Given the description of an element on the screen output the (x, y) to click on. 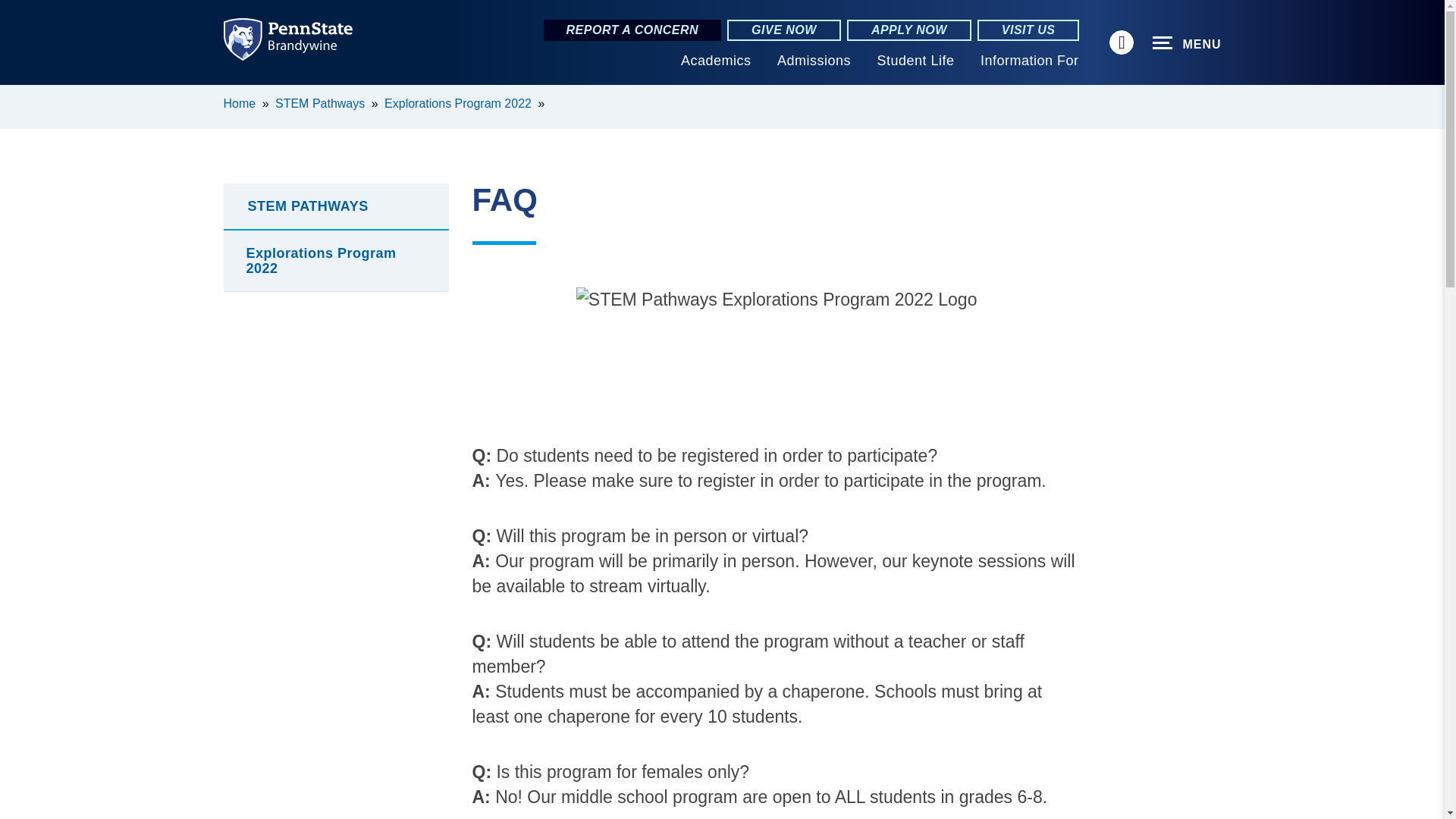
Academics (716, 60)
Student Life (914, 60)
GIVE NOW (783, 29)
VISIT US (1028, 29)
Admissions (813, 60)
APPLY NOW (909, 29)
Information For (1028, 60)
Academics (716, 60)
SKIP TO MAIN CONTENT (19, 95)
REPORT A CONCERN (632, 29)
